Given the description of an element on the screen output the (x, y) to click on. 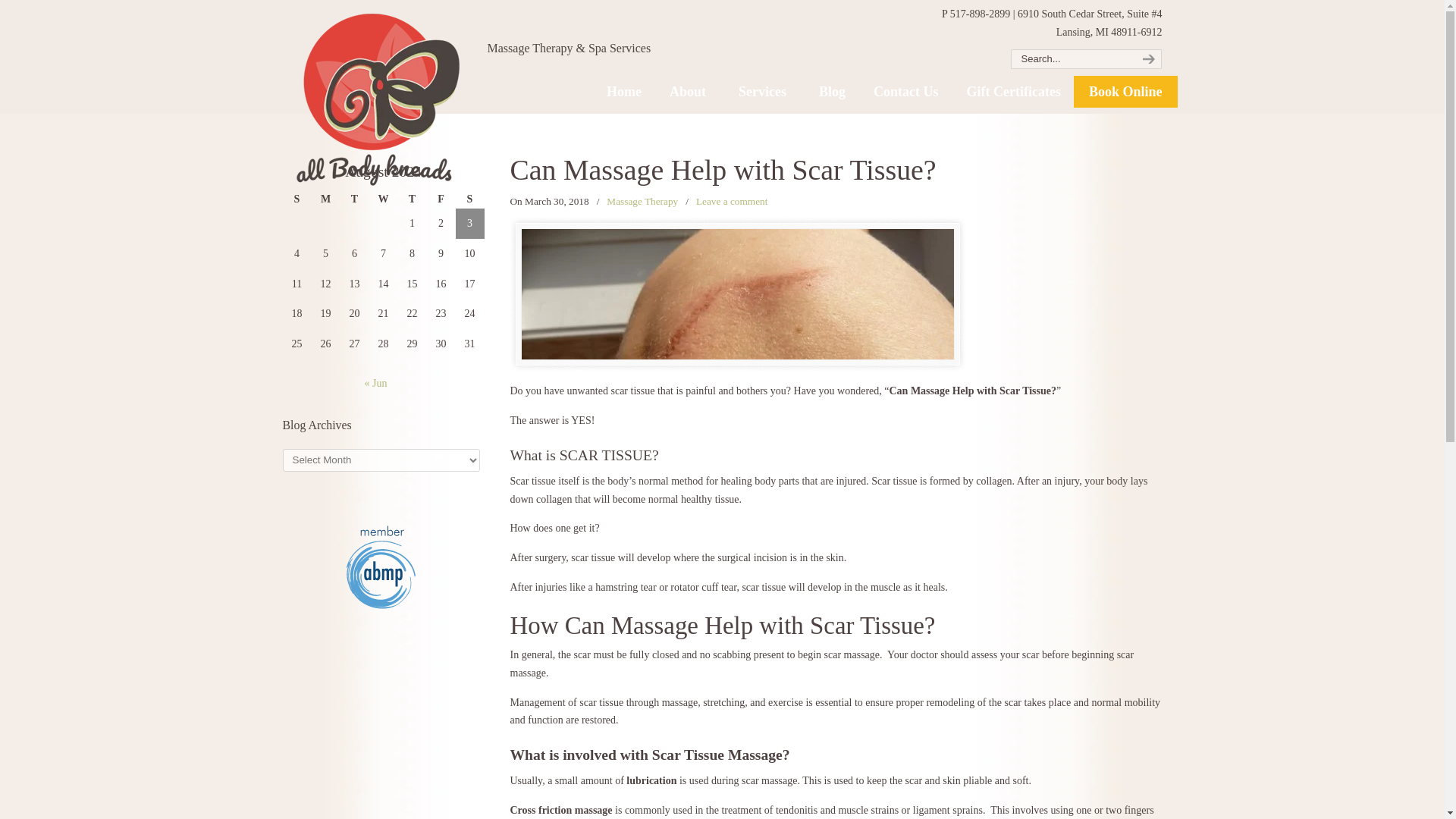
Book Online (1125, 91)
search (1146, 58)
All Body Kneads (376, 99)
Services (764, 91)
search (1146, 58)
Massage Therapy (642, 201)
Monday (325, 199)
All Body Kneads (376, 99)
Home (623, 91)
Leave a comment (731, 201)
Blog (831, 91)
Can Massage Help with Scar Tissue? (722, 169)
Tuesday (353, 199)
Contact Us (906, 91)
search (1146, 58)
